Given the description of an element on the screen output the (x, y) to click on. 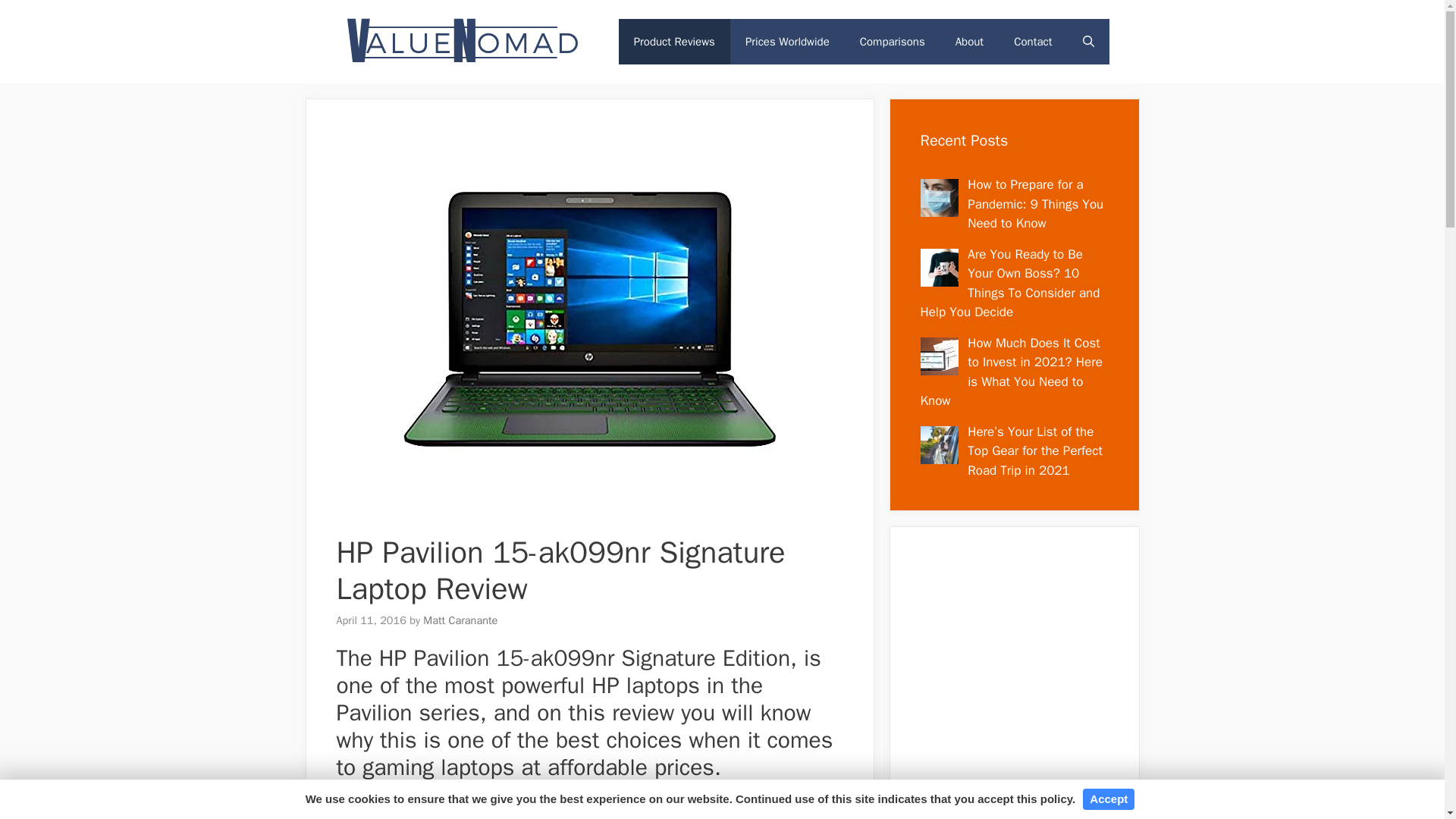
Prices Worldwide (787, 41)
Comparisons (892, 41)
Matt Caranante (460, 620)
About (969, 41)
Value Nomad (461, 41)
Value Nomad (461, 40)
How to Prepare for a Pandemic: 9 Things You Need to Know (1035, 203)
Contact (1032, 41)
